Given the description of an element on the screen output the (x, y) to click on. 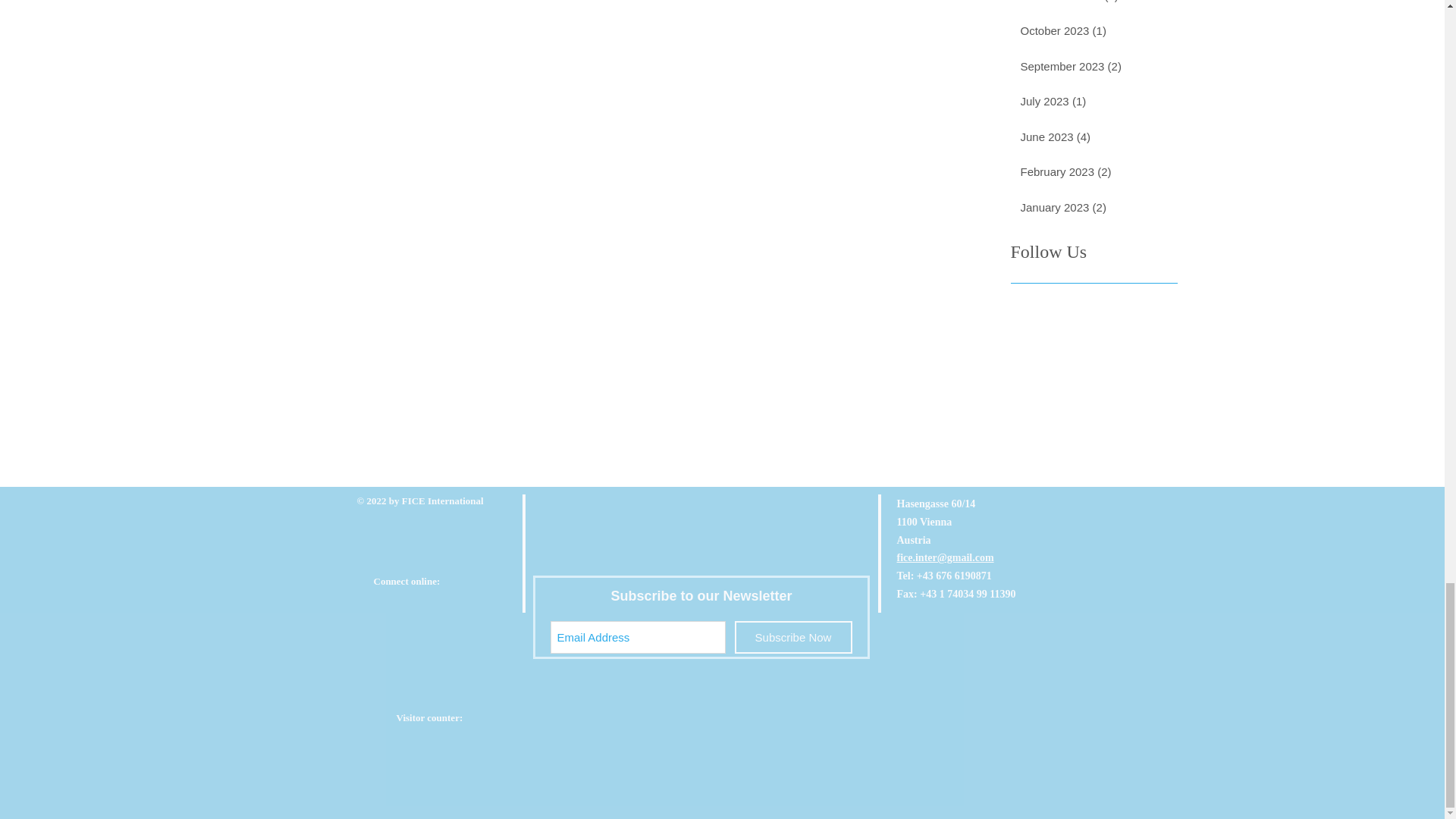
Subscribe Now (792, 636)
